Given the description of an element on the screen output the (x, y) to click on. 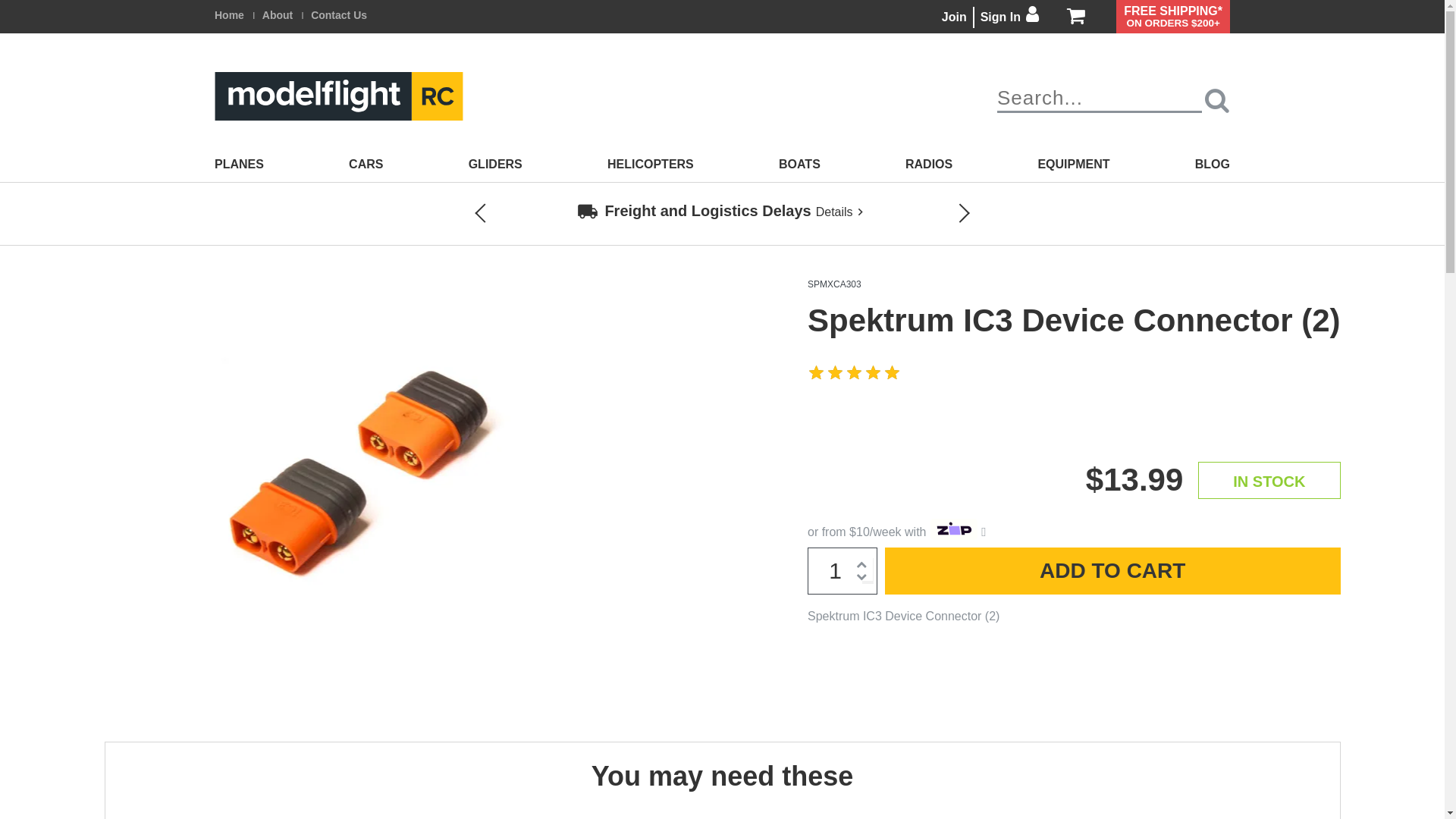
Next Element type: text (950, 213)
EQUIPMENT Element type: text (1073, 164)
Join Element type: text (953, 17)
HELICOPTERS Element type: text (650, 164)
Skip to the end of the images gallery Element type: text (103, 279)
Contact Us Element type: text (338, 15)
Skip to the beginning of the images gallery Element type: text (103, 673)
BLOG Element type: text (1212, 164)
My Cart Element type: text (1075, 16)
Qty Element type: hover (842, 570)
RADIOS Element type: text (928, 164)
CARS Element type: text (365, 164)
Previous Element type: text (495, 213)
SEARCH Element type: text (1217, 99)
GLIDERS Element type: text (495, 164)
BOATS Element type: text (799, 164)
PLANES Element type: text (238, 164)
ADD TO CART Element type: text (1112, 570)
About Element type: text (277, 15)
Sign In Element type: text (1009, 17)
100% Element type: hover (854, 372)
local_shipping
Free Delivery
On any order above $200
Details Element type: text (722, 210)
Home Element type: text (229, 15)
